Given the description of an element on the screen output the (x, y) to click on. 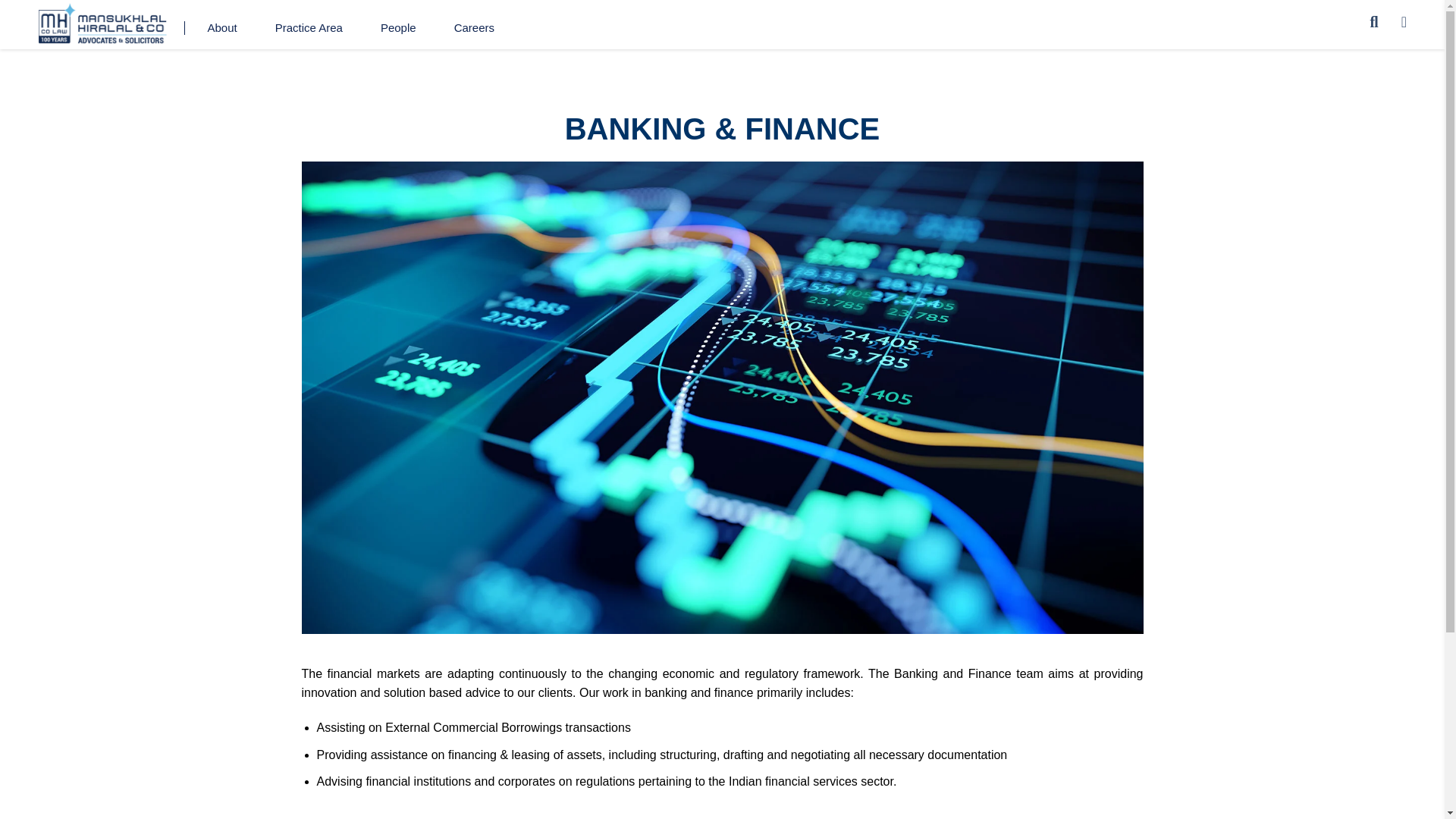
Careers (474, 28)
About (221, 28)
Practice Area (308, 28)
People (398, 28)
